Given the description of an element on the screen output the (x, y) to click on. 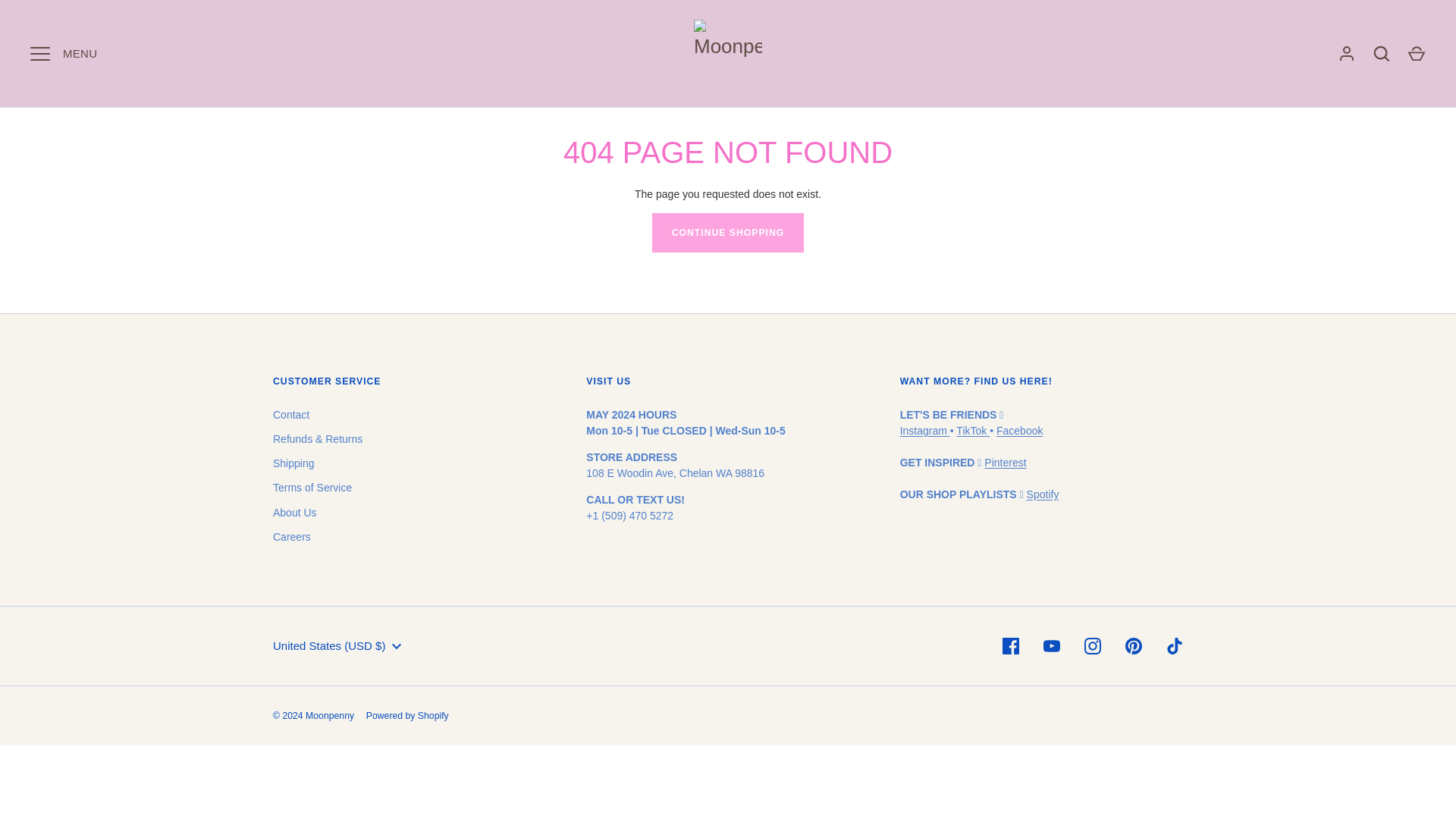
TikTok (973, 430)
Down (396, 647)
